Given the description of an element on the screen output the (x, y) to click on. 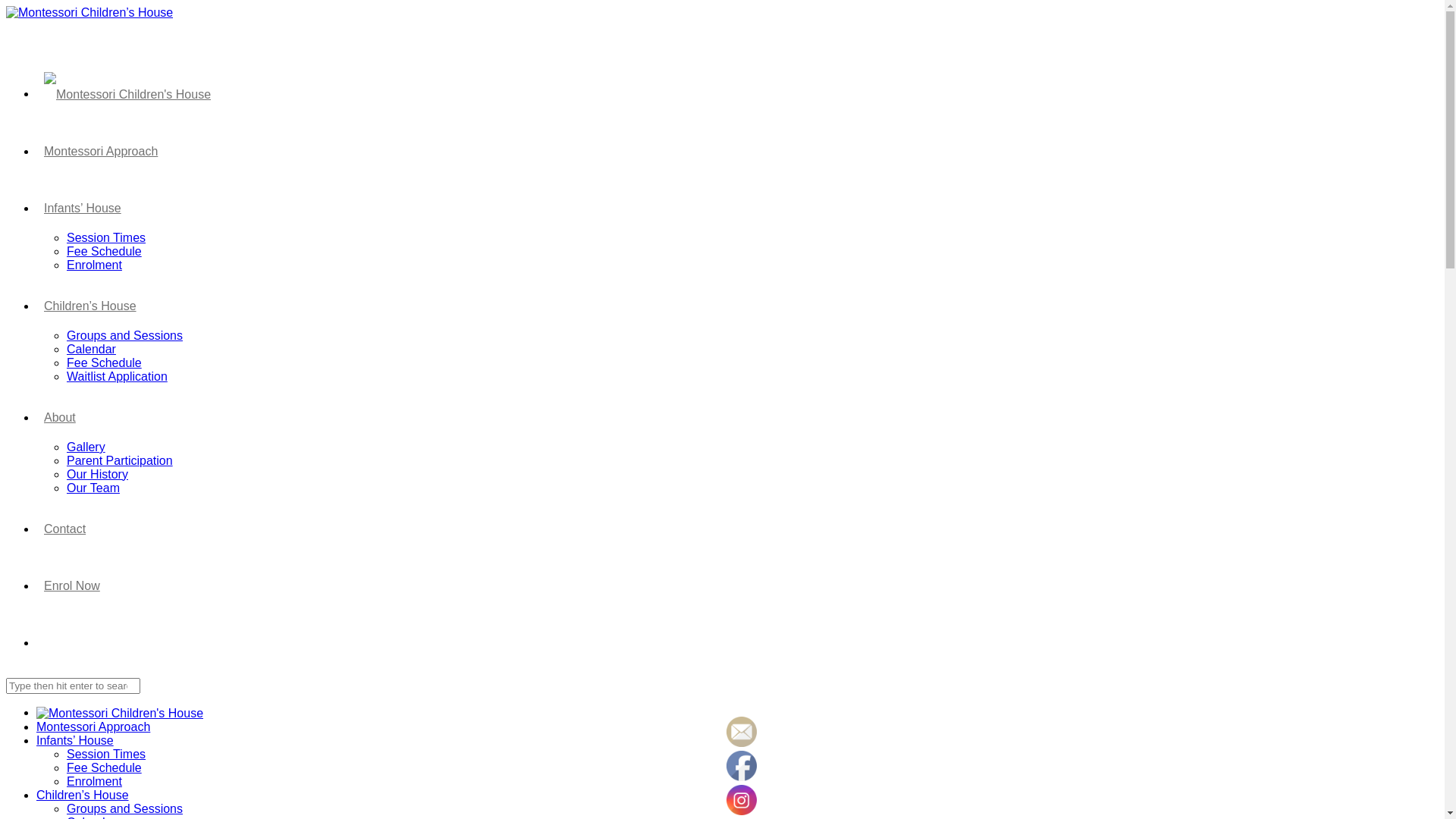
Groups and Sessions Element type: text (124, 335)
Facebook Element type: hover (741, 765)
Session Times Element type: text (105, 753)
Gallery Element type: text (85, 446)
Calendar Element type: text (91, 348)
Our History Element type: text (97, 473)
Montessori Approach Element type: text (93, 726)
Parent Participation Element type: text (119, 460)
Fee Schedule Element type: text (103, 362)
Follow by Email Element type: hover (741, 731)
Contact Element type: text (64, 527)
Enrolment Element type: text (94, 264)
Fee Schedule Element type: text (103, 767)
Waitlist Application Element type: text (116, 376)
Enrol Now Element type: text (71, 584)
Instagram Element type: hover (741, 799)
Session Times Element type: text (105, 237)
Groups and Sessions Element type: text (124, 808)
Our Team Element type: text (92, 487)
Montessori Approach Element type: text (100, 149)
Fee Schedule Element type: text (103, 250)
About Element type: text (59, 415)
Enrolment Element type: text (94, 781)
